Given the description of an element on the screen output the (x, y) to click on. 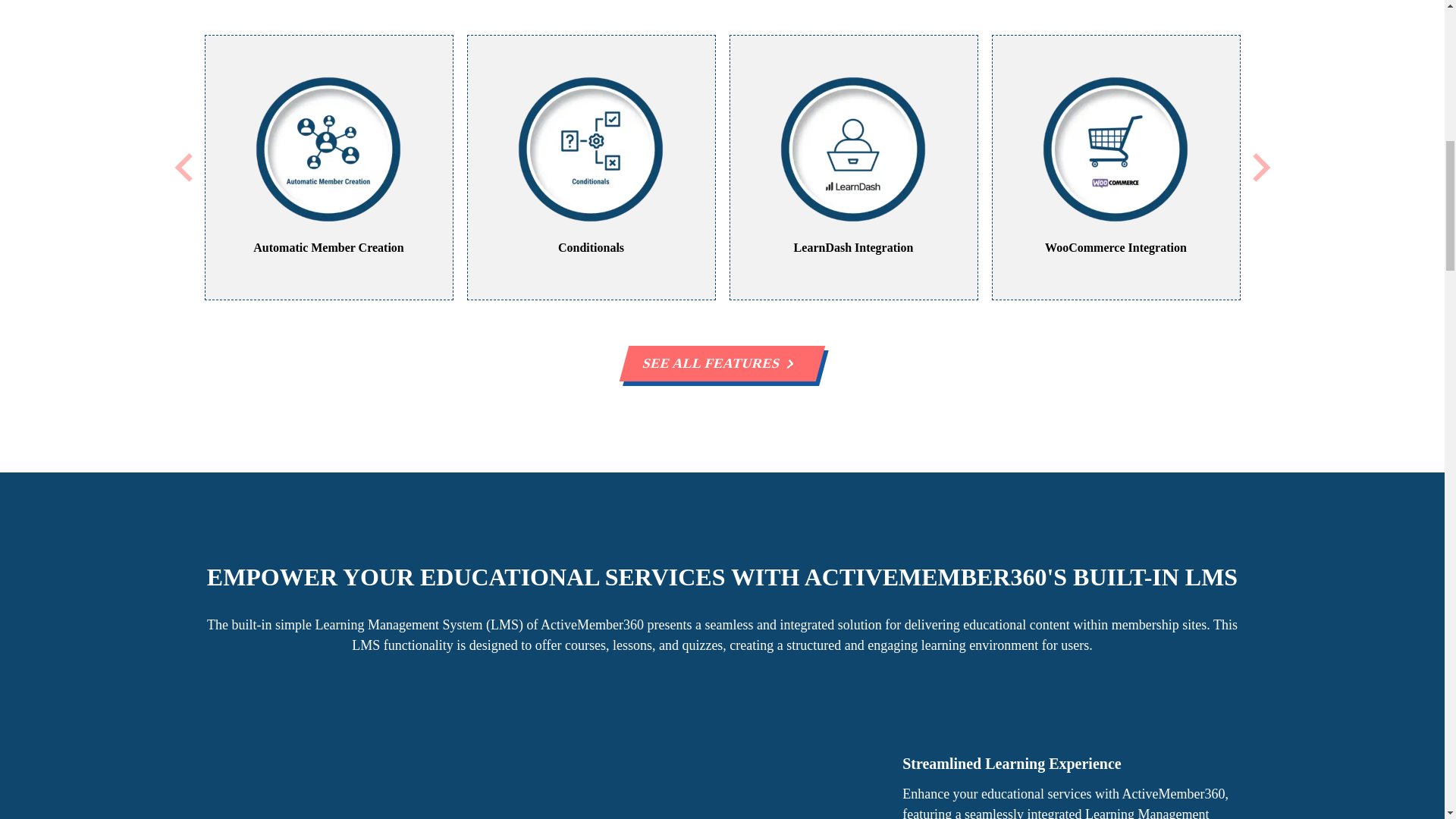
WooCommerce Integration (1115, 167)
Conditionals (591, 167)
LearnDash Integration (853, 167)
Automatic Member Creation (328, 167)
